Given the description of an element on the screen output the (x, y) to click on. 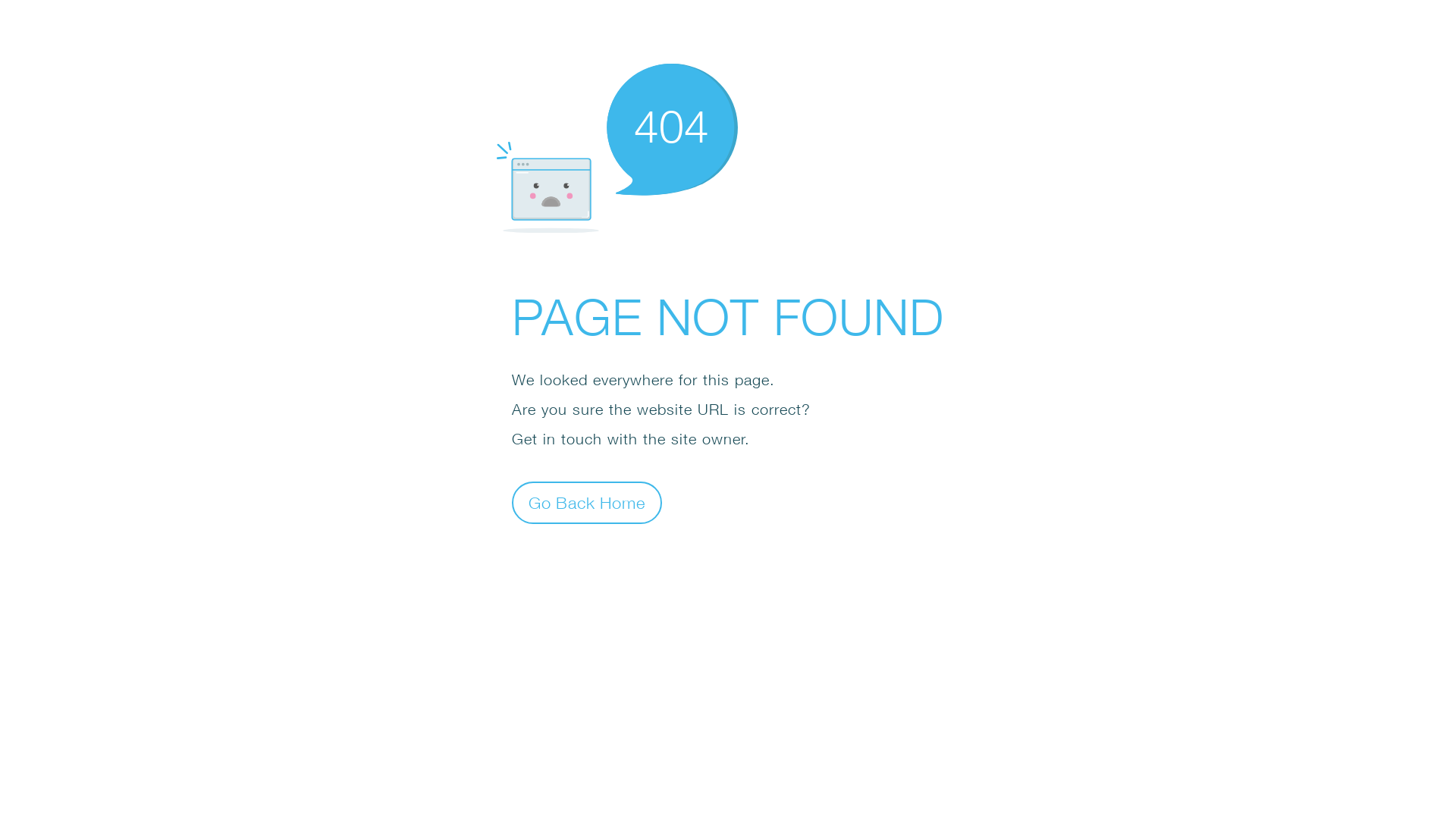
Go Back Home Element type: text (586, 502)
